Given the description of an element on the screen output the (x, y) to click on. 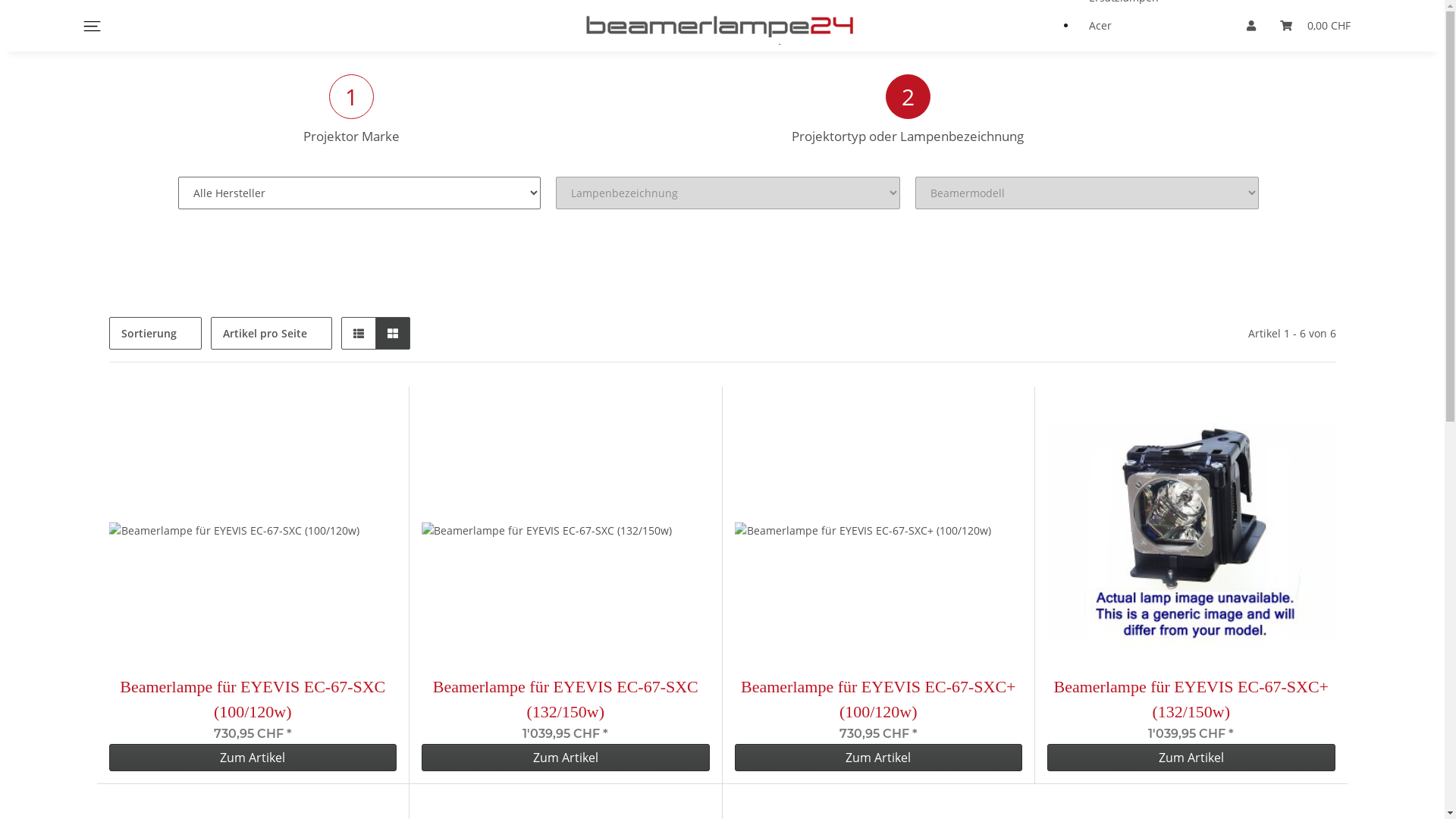
Zum Artikel Element type: text (253, 757)
Zum Artikel Element type: text (1191, 757)
beamerlampe24.ch Element type: hover (722, 25)
Liste Element type: hover (358, 332)
Zum Artikel Element type: text (878, 757)
Acer Element type: text (1129, 25)
Galerie Element type: hover (391, 332)
Artikel pro Seite Element type: text (271, 332)
Sortierung Element type: text (155, 332)
Zum Artikel Element type: text (565, 757)
